Given the description of an element on the screen output the (x, y) to click on. 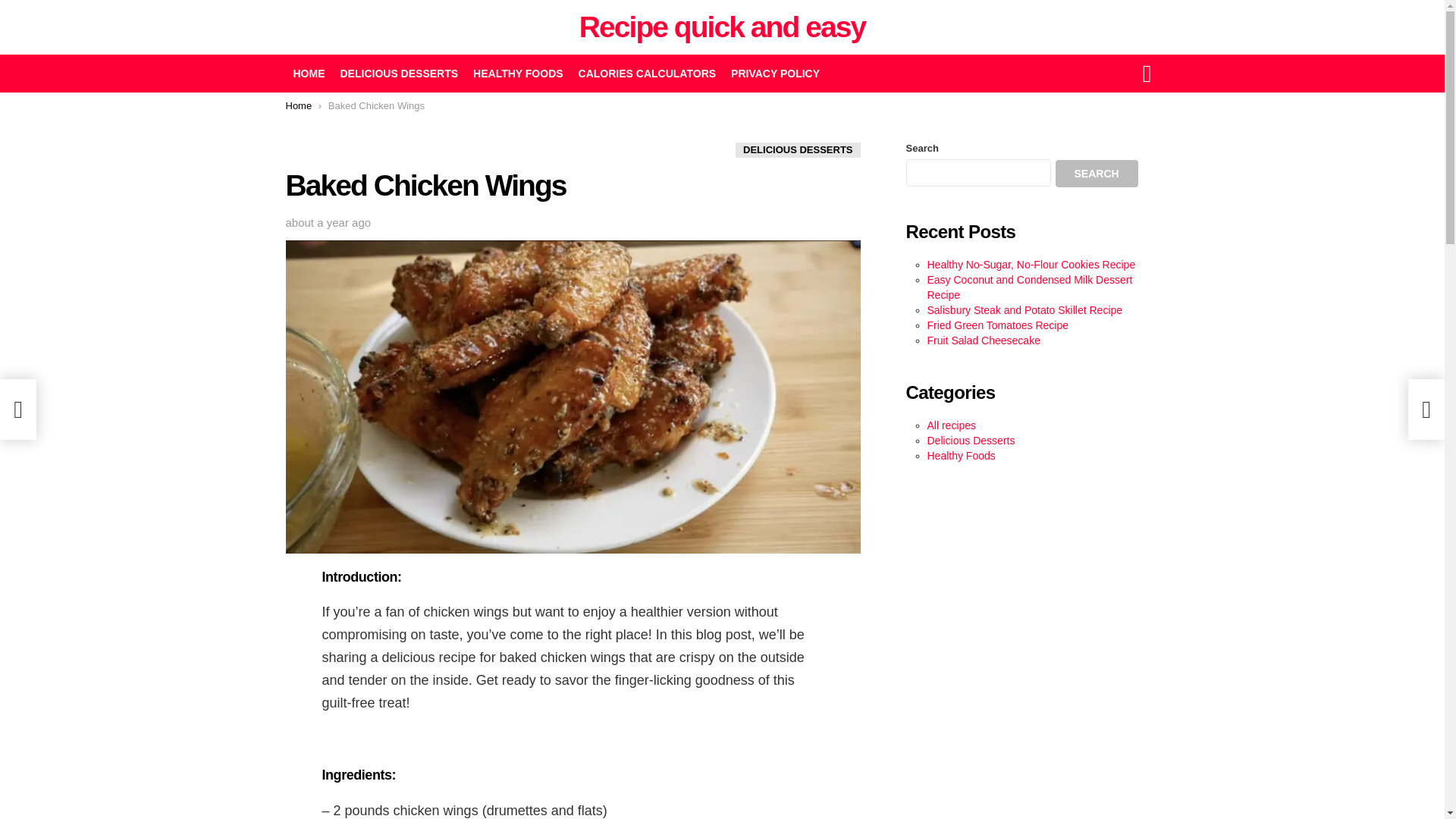
DELICIOUS DESSERTS (797, 150)
Fruit Salad Cheesecake (982, 340)
4 August 2023, 08:00 (328, 223)
Fried Green Tomatoes Recipe (997, 325)
Home (298, 105)
DELICIOUS DESSERTS (398, 73)
SEARCH (1096, 173)
Healthy Foods (960, 455)
Easy Coconut and Condensed Milk Dessert Recipe (1029, 287)
PRIVACY POLICY (775, 73)
CALORIES CALCULATORS (646, 73)
HEALTHY FOODS (517, 73)
Healthy No-Sugar, No-Flour Cookies Recipe (1030, 264)
Salisbury Steak and Potato Skillet Recipe (1024, 309)
Recipe quick and easy (721, 26)
